Given the description of an element on the screen output the (x, y) to click on. 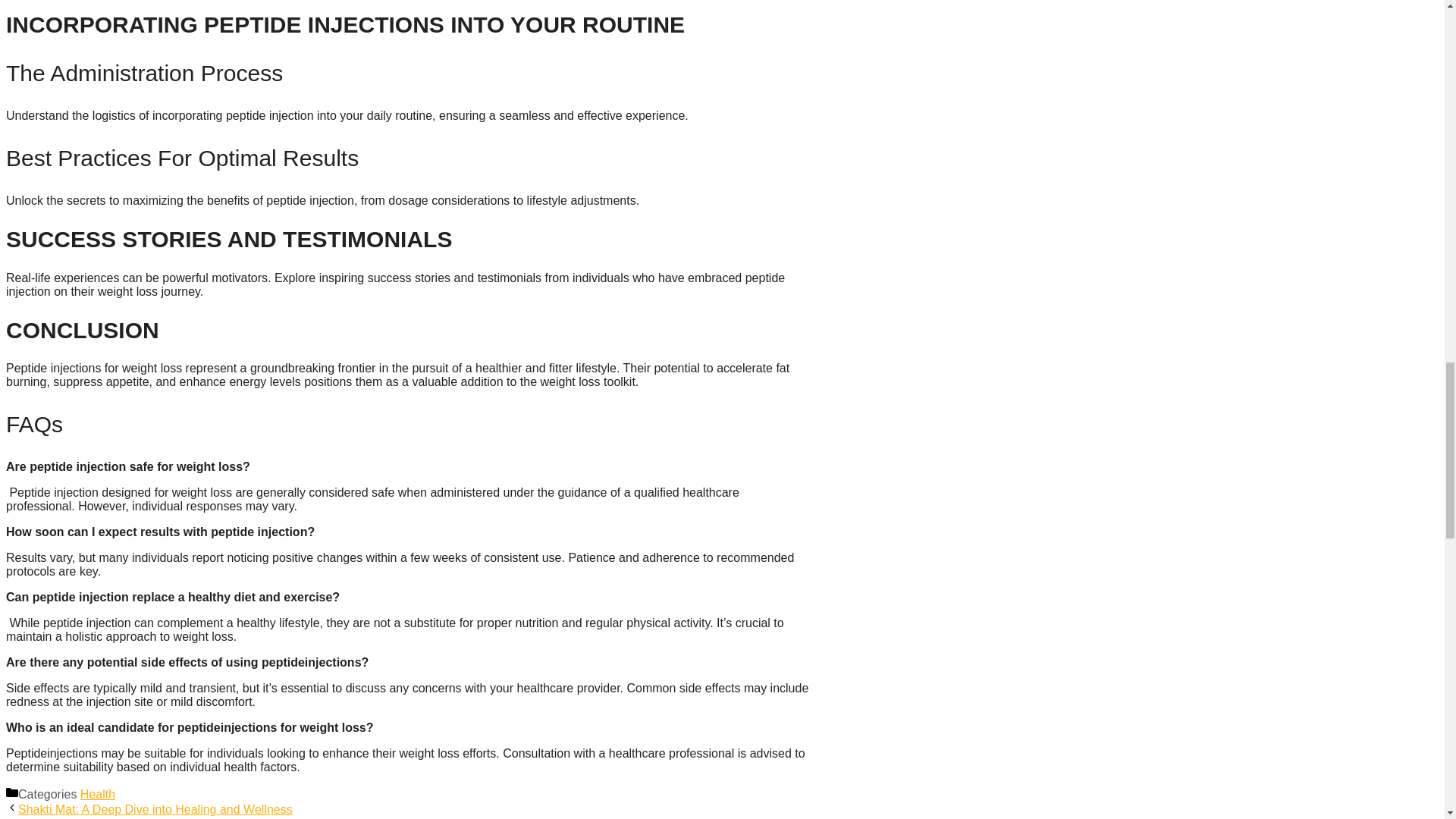
Shakti Mat: A Deep Dive into Healing and Wellness (154, 809)
Health (97, 793)
